Given the description of an element on the screen output the (x, y) to click on. 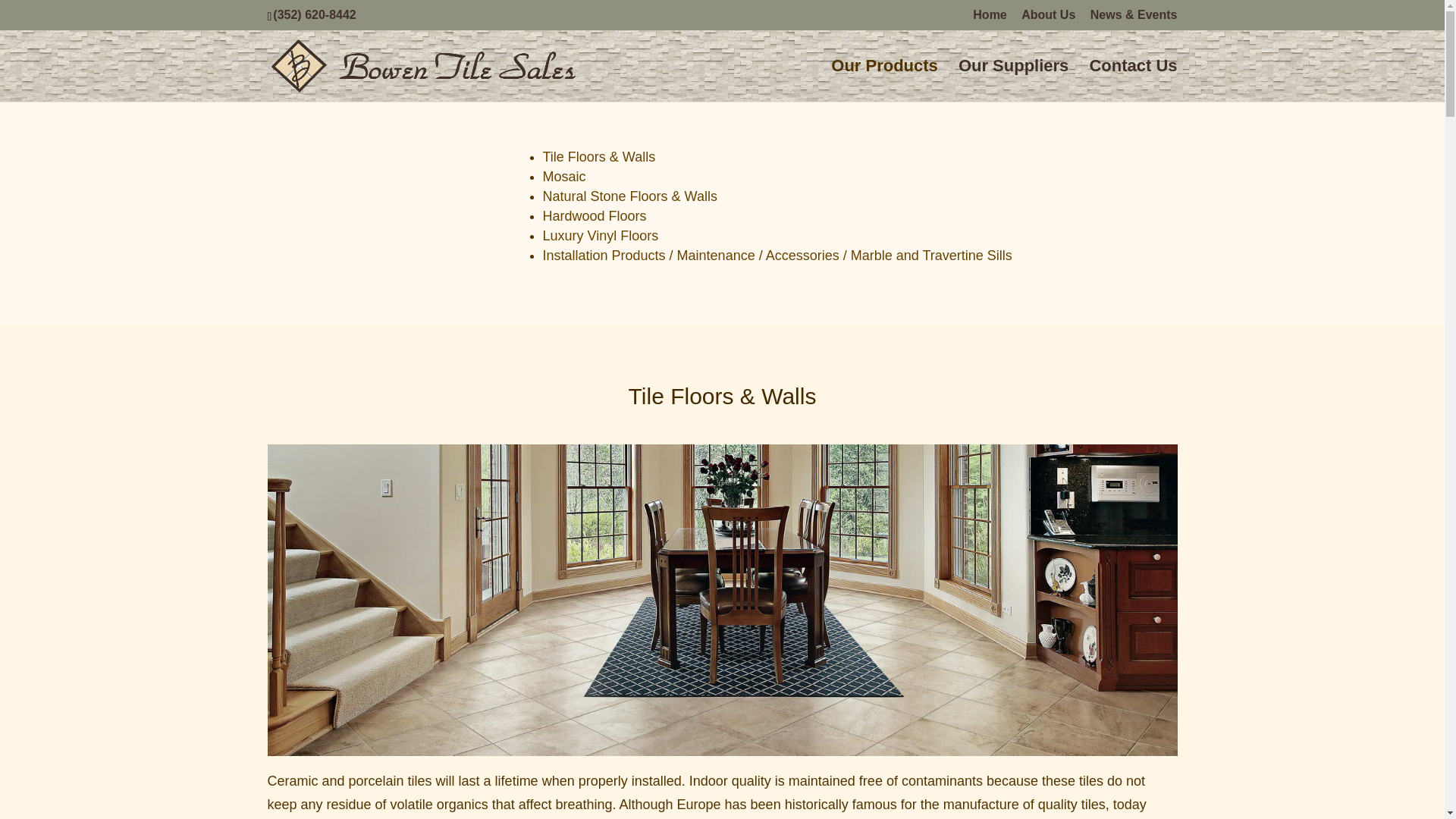
Hardwood Floors (594, 215)
About Us (1048, 19)
Home (989, 19)
Our Suppliers (1013, 80)
Mosaic (564, 176)
Contact Us (1132, 80)
Luxury Vinyl Floors (601, 235)
Our Products (884, 80)
